Given the description of an element on the screen output the (x, y) to click on. 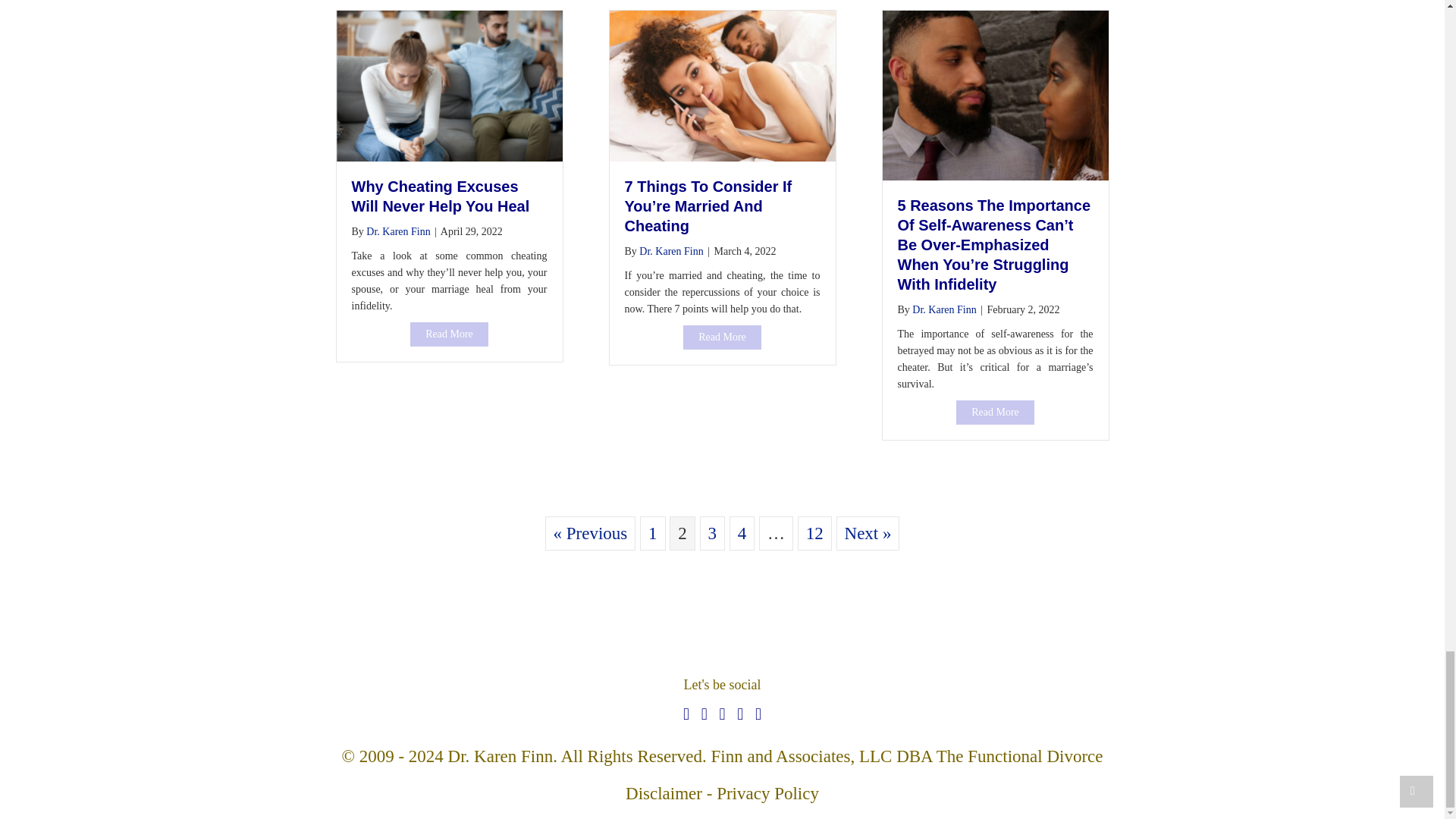
Why Cheating Excuses Will Never Help You Heal (440, 196)
Why Cheating Excuses Will Never Help You Heal (448, 334)
Why Cheating Excuses Will Never Help You Heal (449, 84)
